Given the description of an element on the screen output the (x, y) to click on. 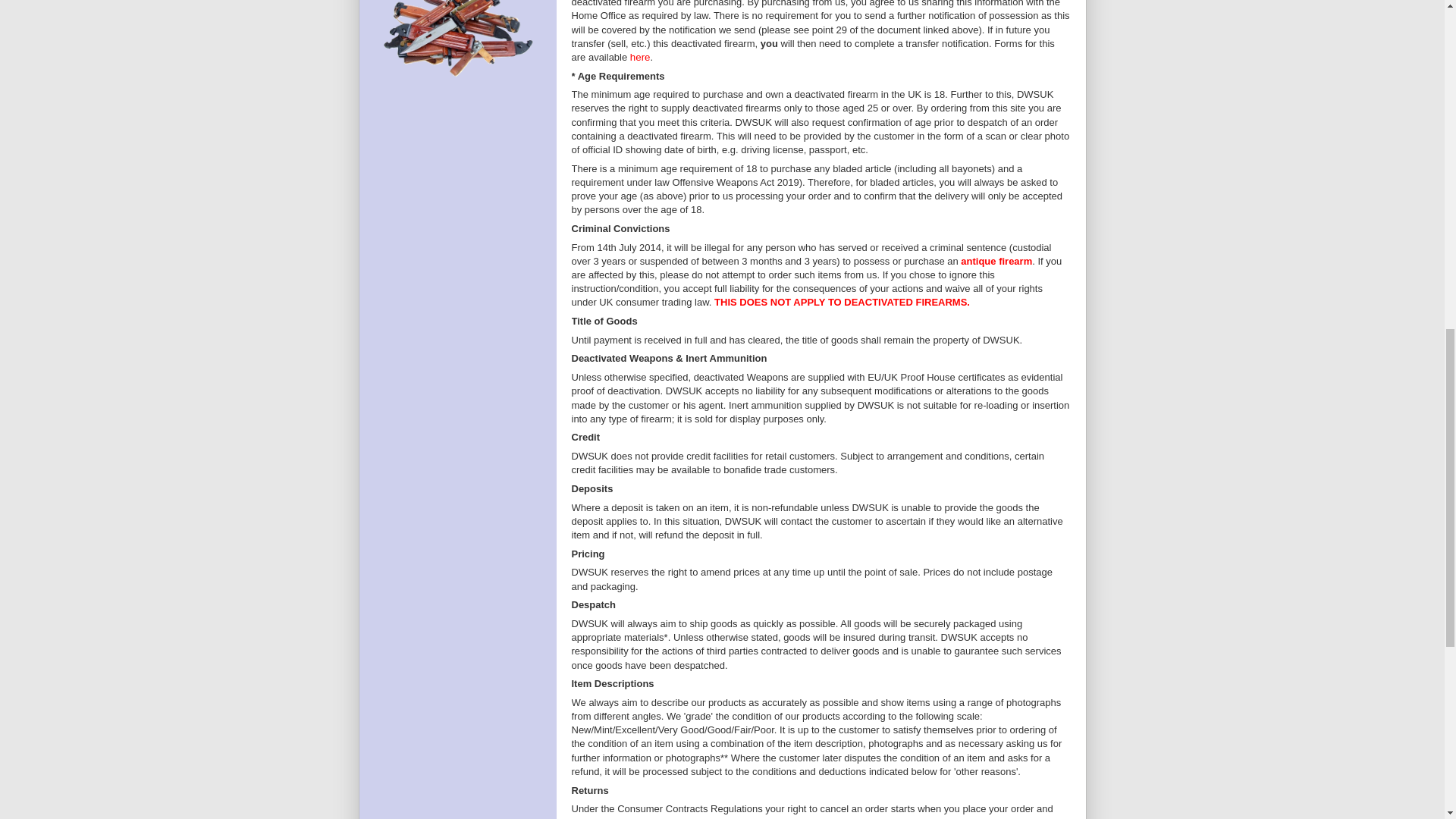
here (640, 57)
DWSUK (457, 94)
